Given the description of an element on the screen output the (x, y) to click on. 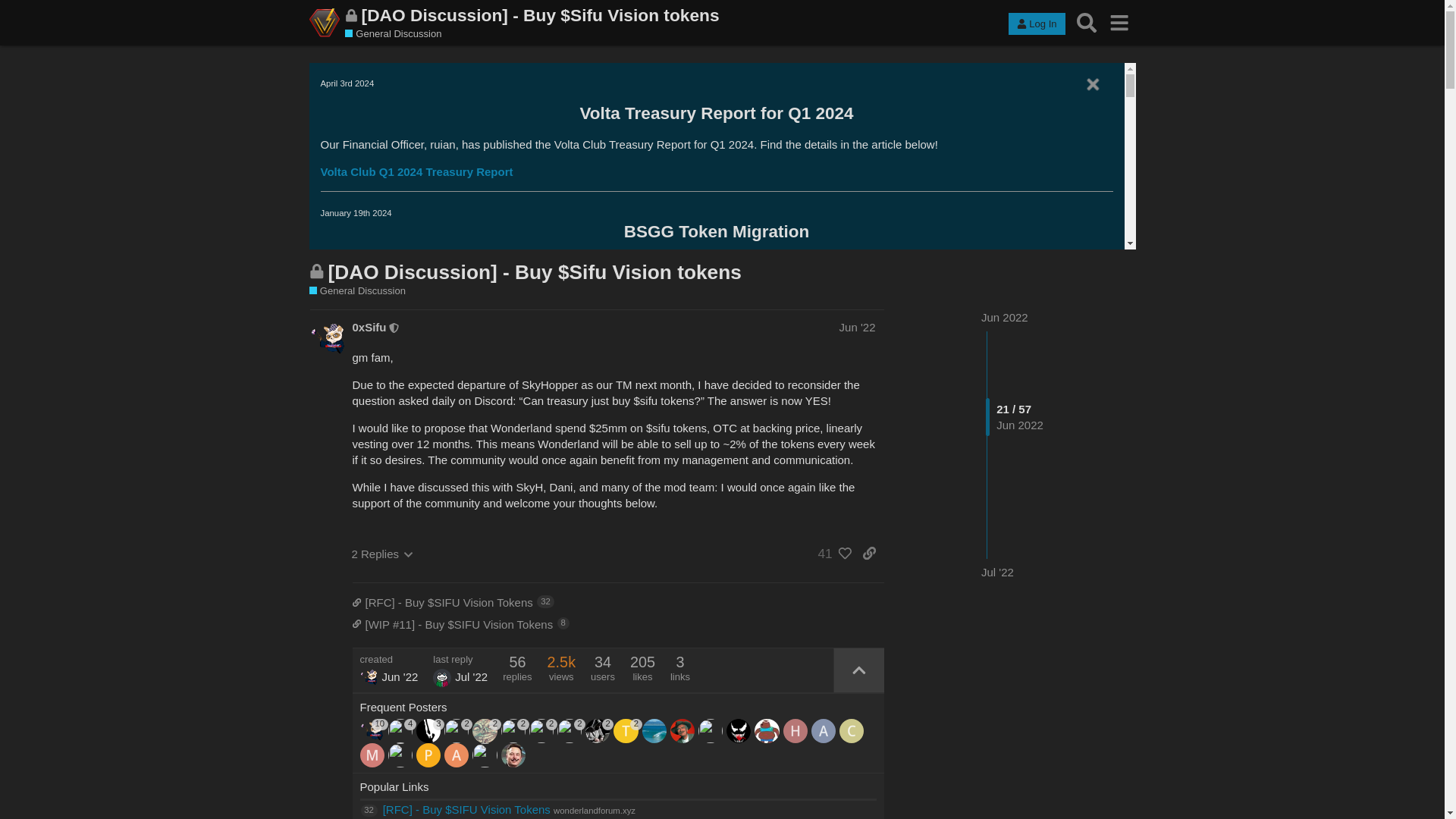
Dismiss this banner (1092, 84)
Join the Betswap.gg Discord Server! (506, 430)
Volta Club Q1 2024 Treasury Report (416, 171)
Discord (372, 403)
General Discussion (393, 33)
bsgg.betswap.gg (396, 652)
Betswap GG (373, 679)
Log In (1036, 24)
08:15PM - 11 January 2024 (405, 518)
Search (1086, 22)
menu (1119, 22)
